Given the description of an element on the screen output the (x, y) to click on. 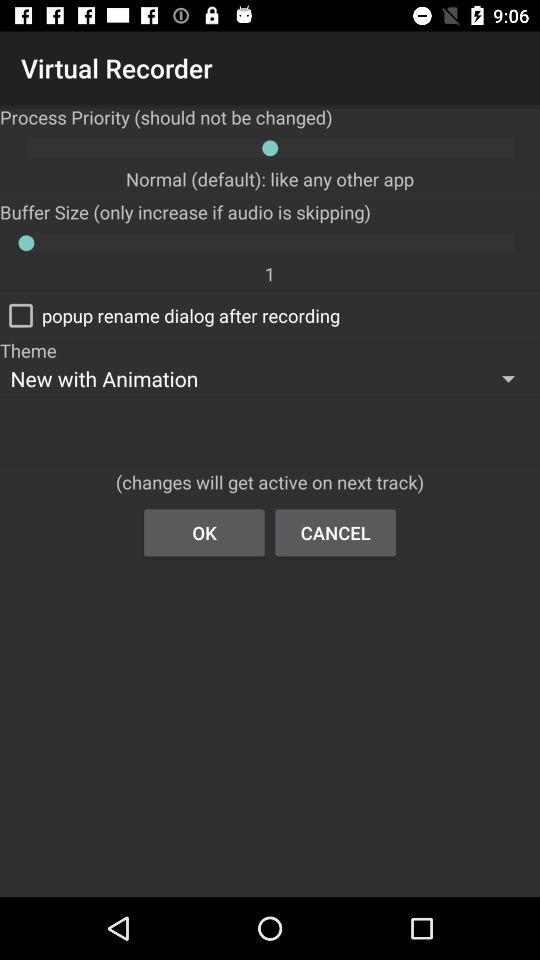
tap item next to the ok item (335, 532)
